Given the description of an element on the screen output the (x, y) to click on. 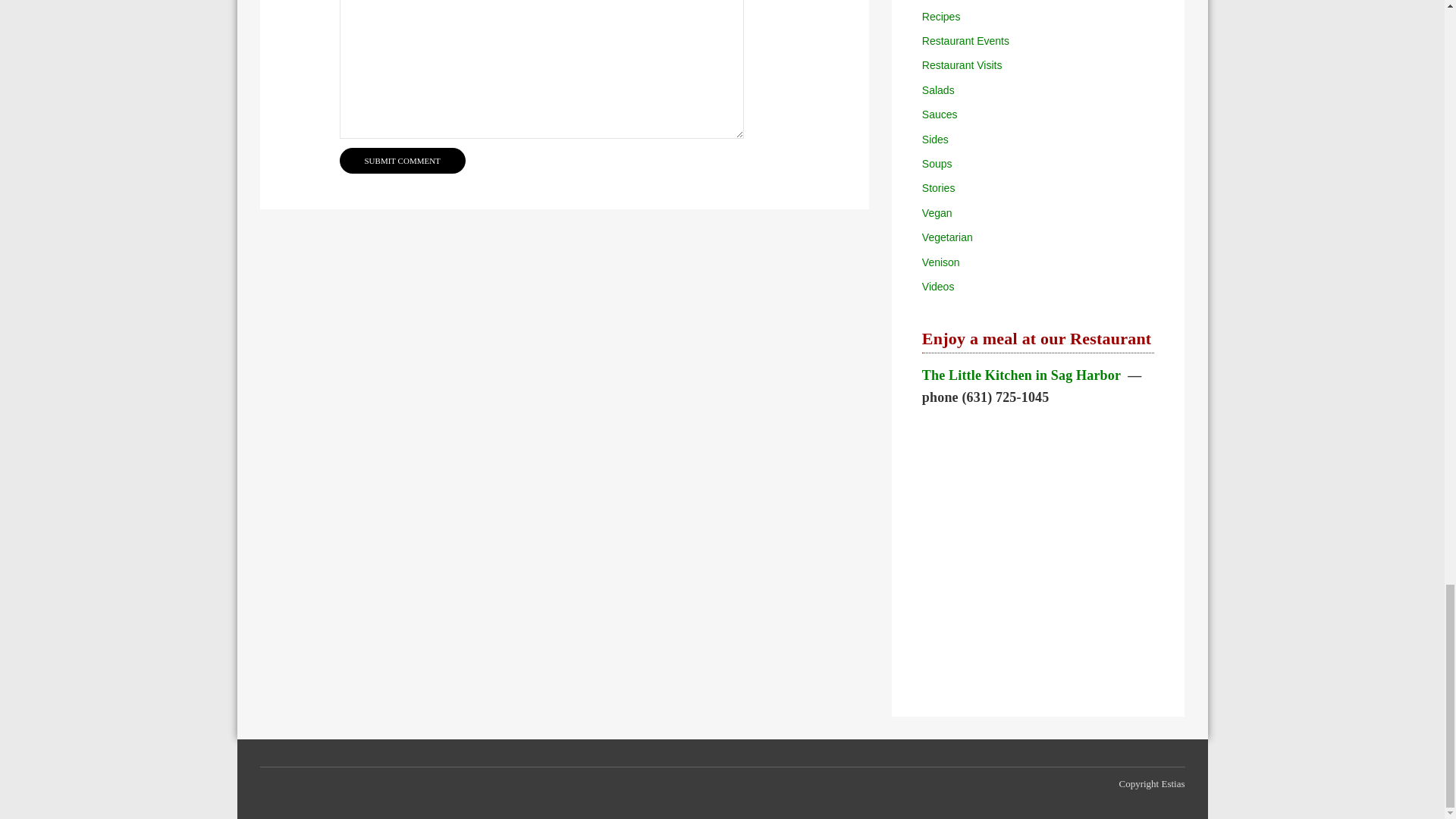
Submit Comment (402, 160)
Submit Comment (402, 160)
Advertisement (1037, 545)
